Given the description of an element on the screen output the (x, y) to click on. 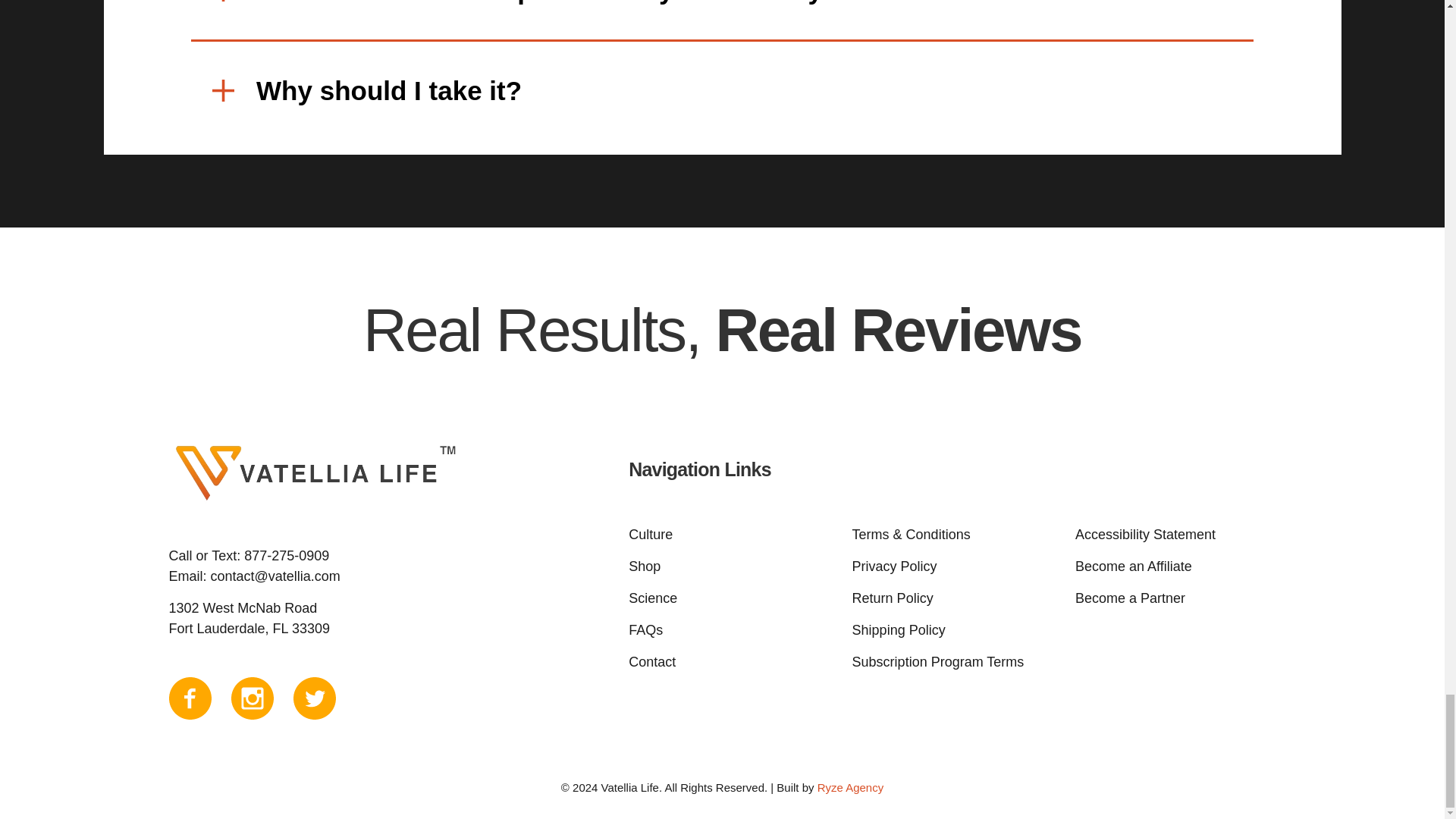
FAQs (731, 629)
Become an Affiliate (1178, 566)
Science (731, 598)
Subscription Program Terms (955, 661)
Call or Text: 877-275-0909 (248, 555)
How does Immune Up benefit my Immune System? (721, 20)
Shipping Policy (955, 629)
Accessibility Statement (1178, 534)
Privacy Policy (955, 566)
Contact (731, 661)
